Given the description of an element on the screen output the (x, y) to click on. 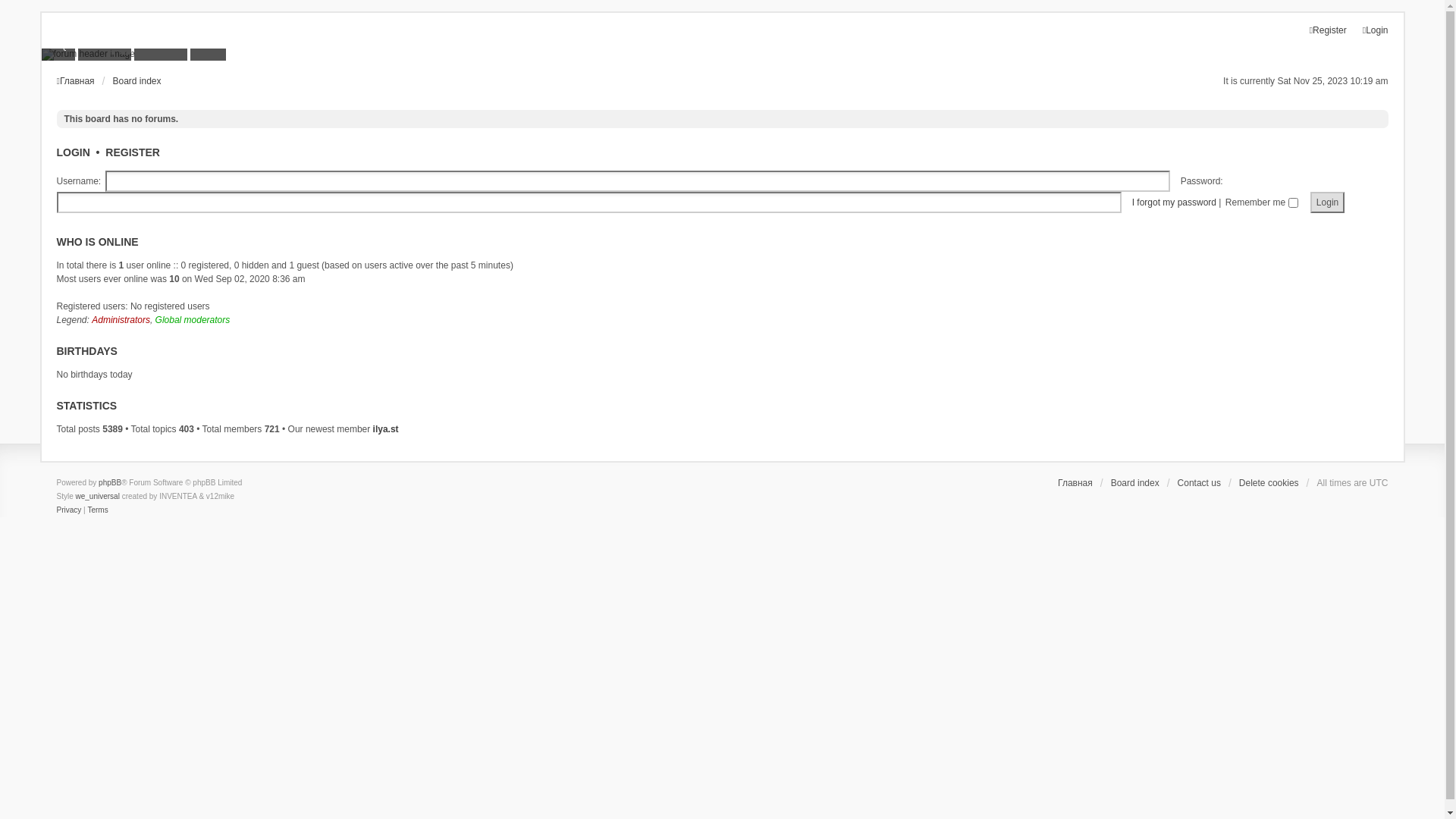
phpBB Element type: text (109, 482)
Register Element type: text (1327, 30)
Board index Element type: text (1134, 482)
Terms Element type: text (97, 510)
Password Element type: hover (588, 202)
The team Element type: text (161, 44)
Privacy Element type: text (68, 510)
Delete cookies Element type: text (1269, 482)
we_universal Element type: text (97, 496)
REGISTER Element type: text (132, 152)
MCP Element type: text (207, 44)
Login Element type: text (1327, 202)
Contact us Element type: text (1198, 482)
Username Element type: hover (637, 180)
WHO IS ONLINE Element type: text (97, 241)
LOGIN Element type: text (72, 152)
Members Element type: text (104, 44)
I forgot my password Element type: text (1174, 202)
Administrators Element type: text (120, 319)
Board index Element type: text (136, 80)
ilya.st Element type: text (385, 429)
Login Element type: text (1375, 30)
FAQ Element type: text (57, 44)
Global moderators Element type: text (192, 319)
